Given the description of an element on the screen output the (x, y) to click on. 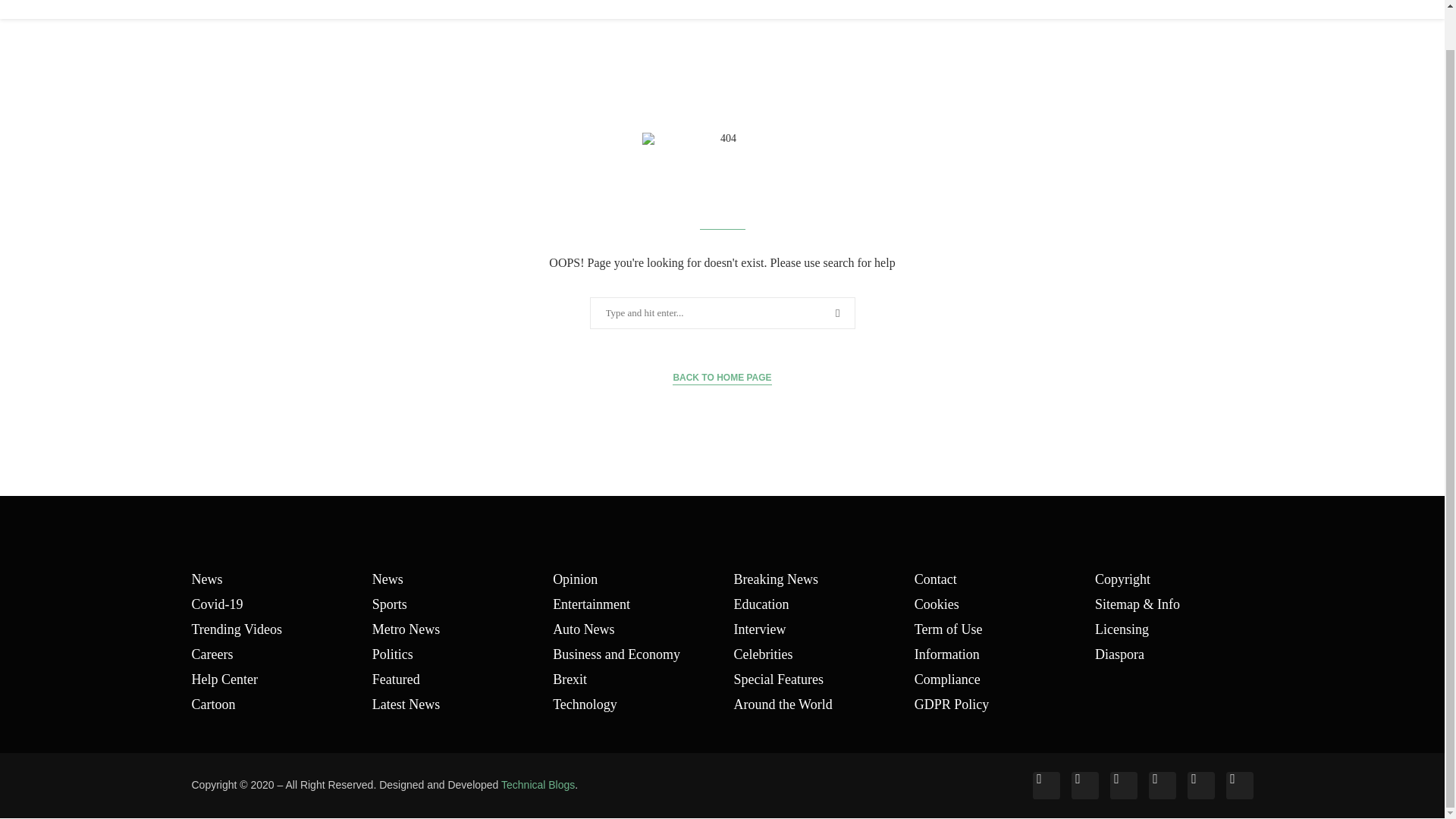
AI (543, 5)
Trending Videos (235, 629)
News (387, 579)
Cartoon (212, 704)
GAME (705, 5)
TECH (503, 5)
News (206, 579)
CYBERSECURITY (914, 5)
Covid-19 (216, 603)
Help Center (223, 679)
